Given the description of an element on the screen output the (x, y) to click on. 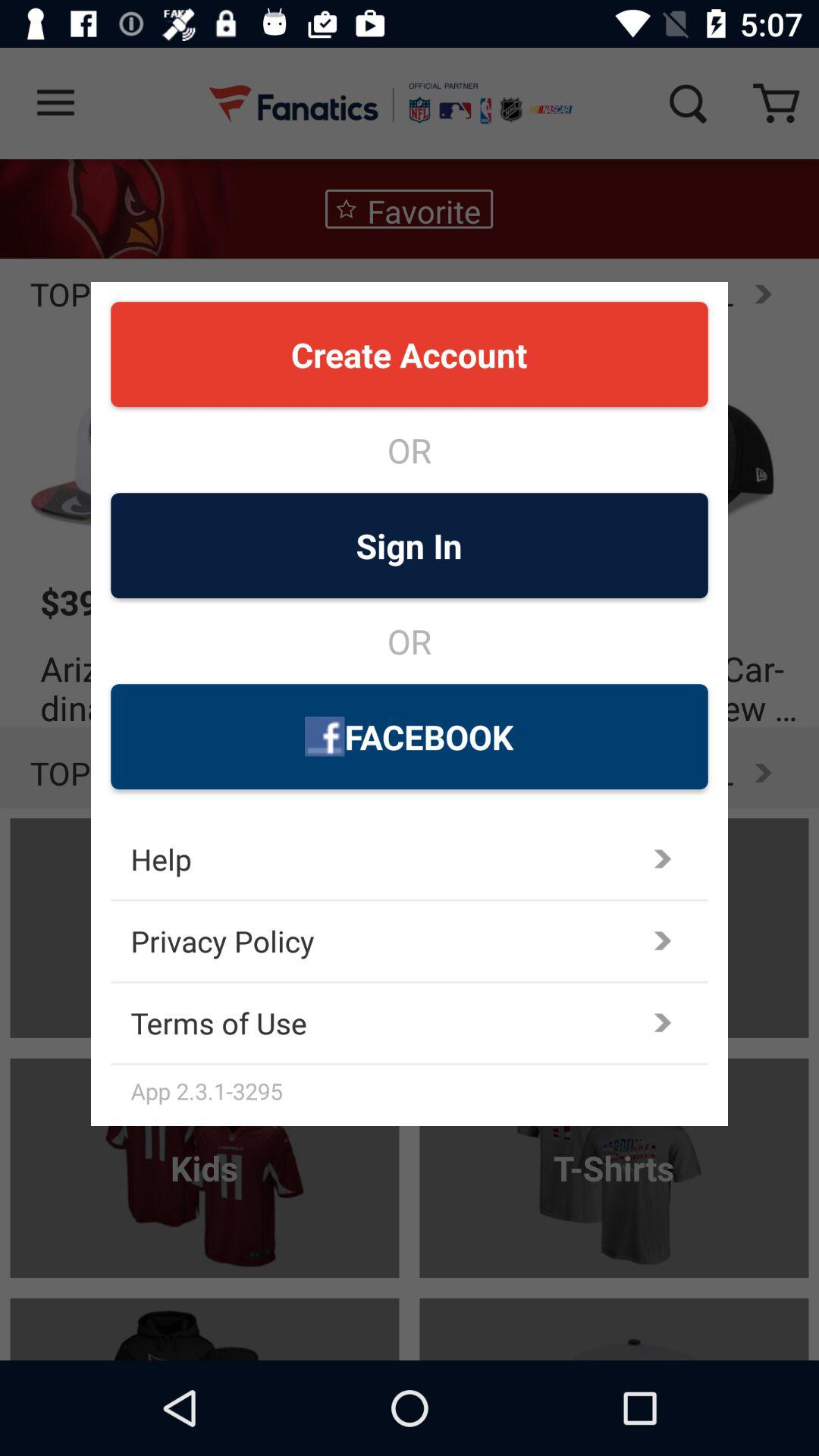
scroll to the app 2 3 (419, 1090)
